Given the description of an element on the screen output the (x, y) to click on. 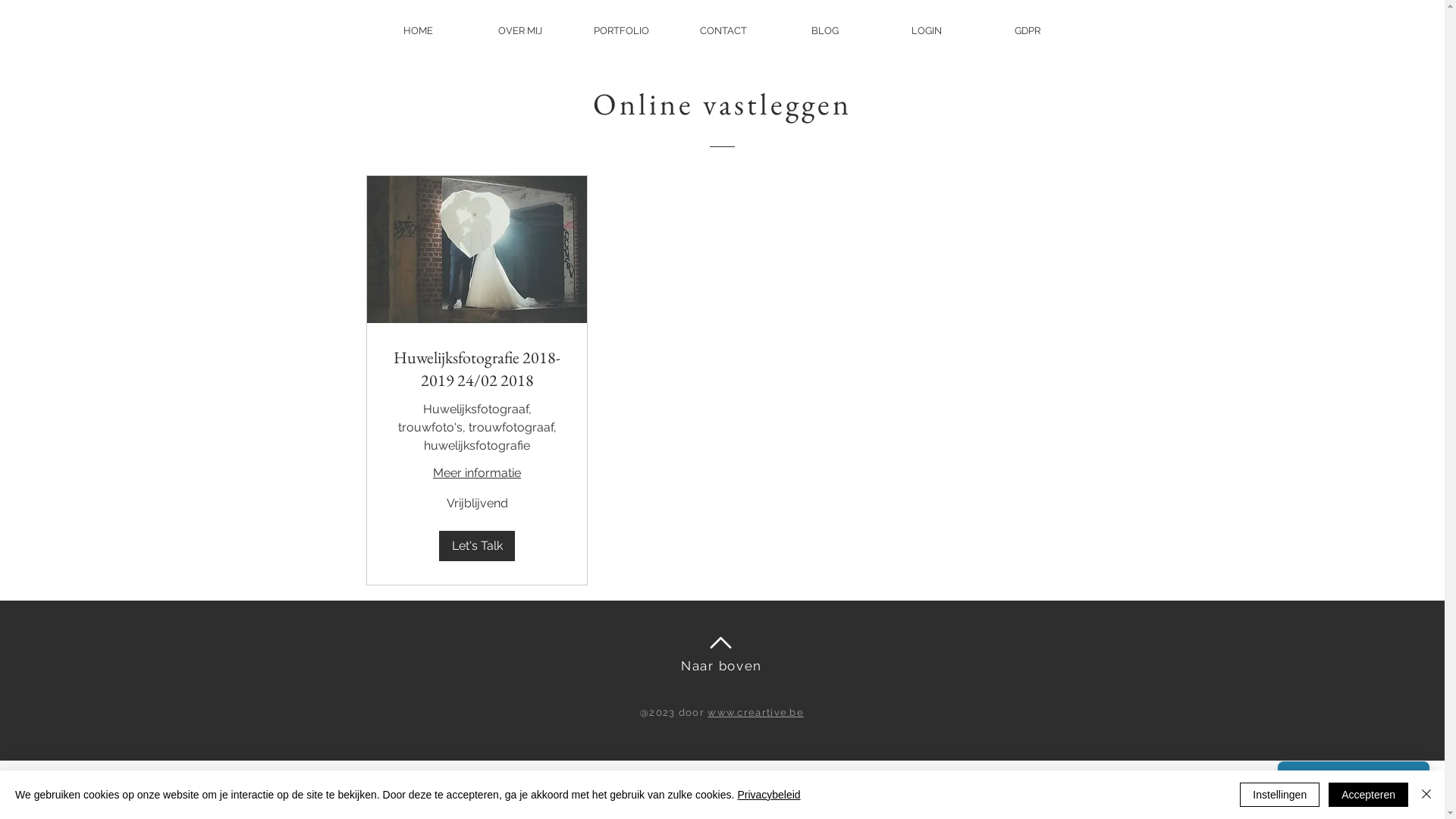
Meer informatie Element type: text (476, 473)
GDPR Element type: text (1027, 30)
Let's Talk Element type: text (476, 545)
BLOG Element type: text (825, 30)
Huwelijksfotografie 2018-2019 24/02 2018 Element type: text (475, 368)
Privacybeleid Element type: text (768, 794)
CONTACT Element type: text (723, 30)
www.creartive.be Element type: text (755, 712)
LOGIN Element type: text (926, 30)
PORTFOLIO Element type: text (621, 30)
Accepteren Element type: text (1368, 794)
OVER MIJ Element type: text (520, 30)
HOME Element type: text (418, 30)
Instellingen Element type: text (1279, 794)
Naar boven Element type: text (721, 665)
